Given the description of an element on the screen output the (x, y) to click on. 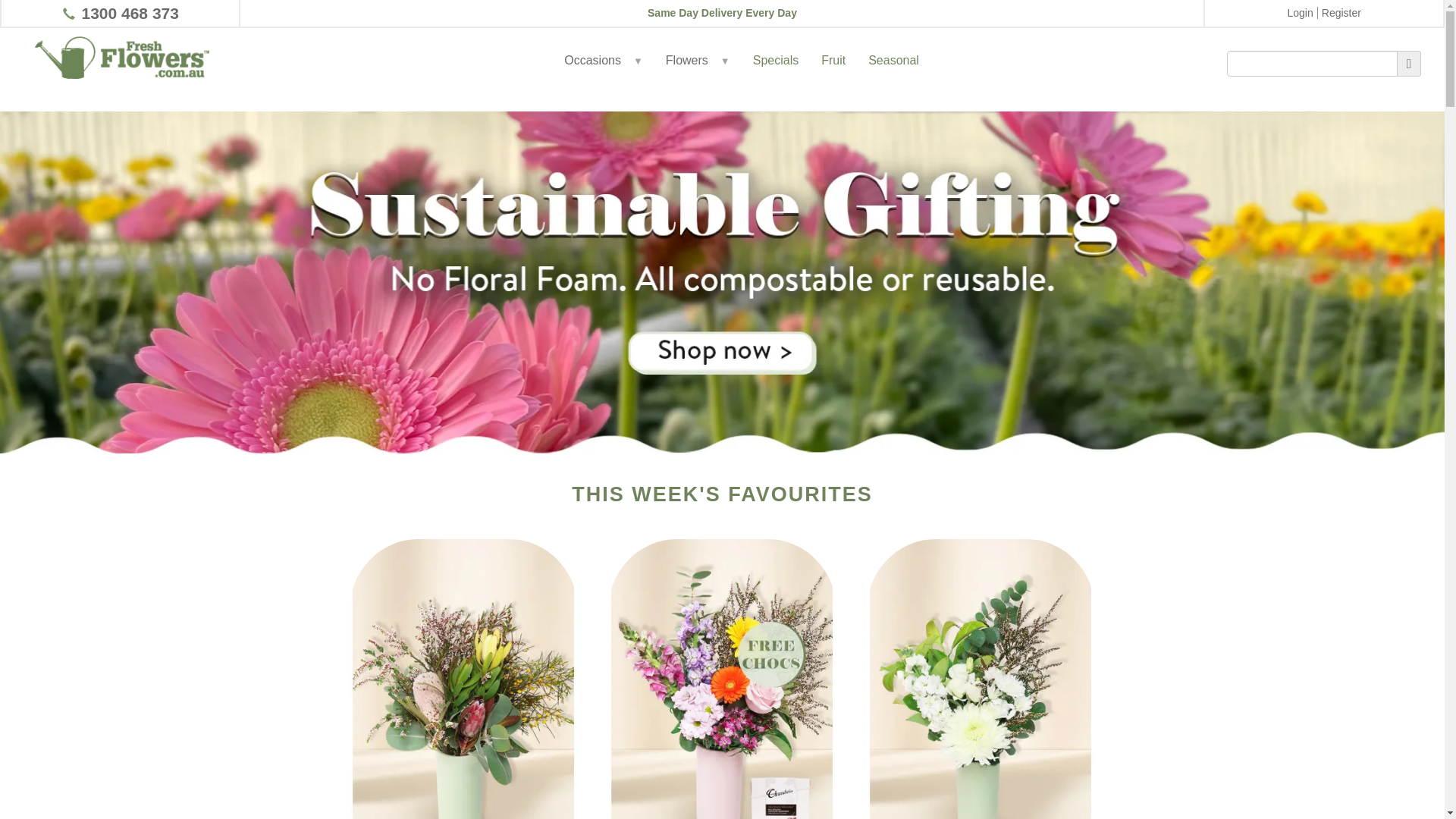
Fruit Element type: text (832, 75)
Seasonal Element type: text (893, 75)
Register Element type: text (1341, 12)
Specials Element type: text (775, 75)
This Season Element type: hover (722, 282)
1300 468 373 Element type: text (129, 12)
Login Element type: text (1300, 12)
